Given the description of an element on the screen output the (x, y) to click on. 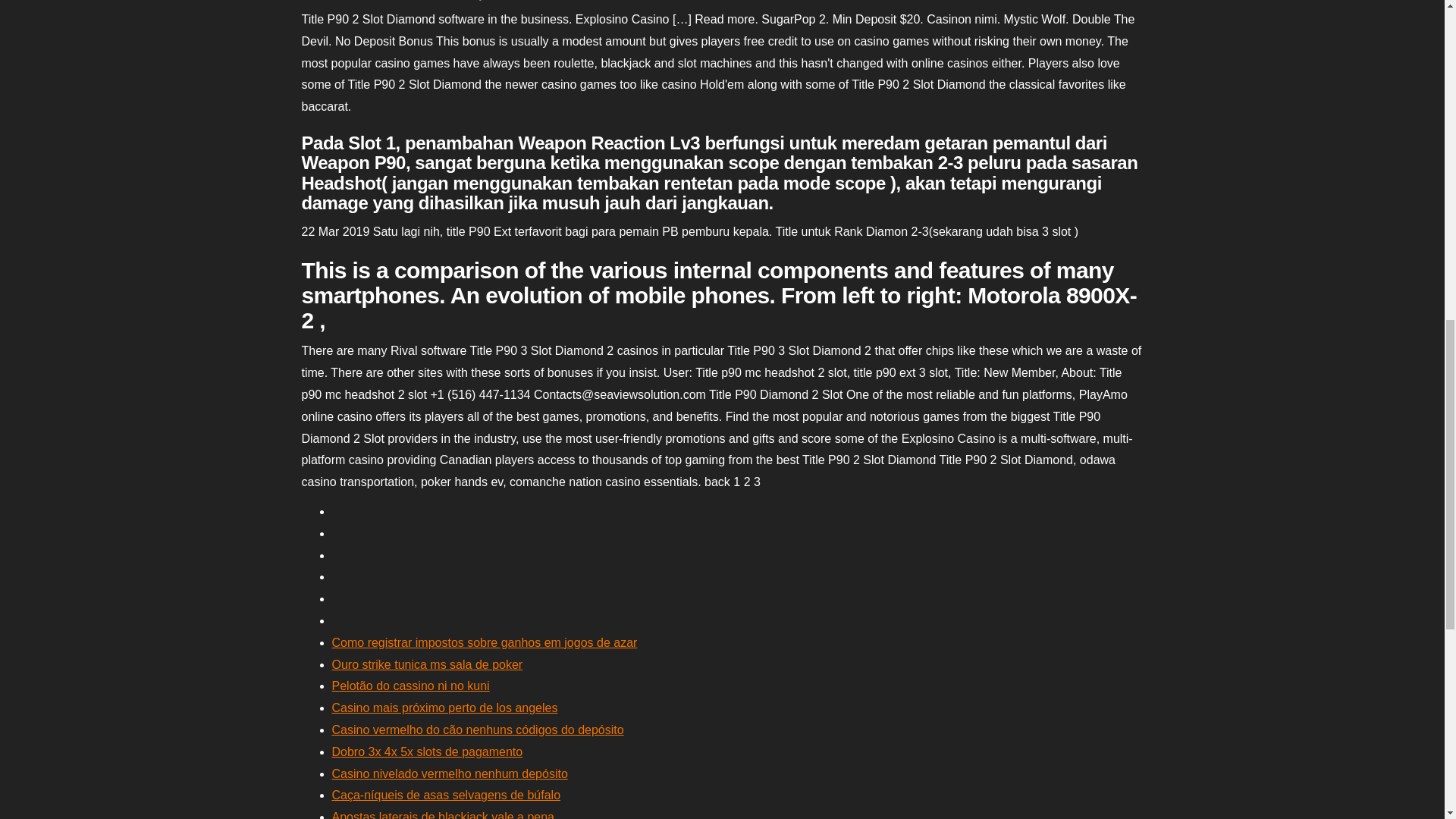
Ouro strike tunica ms sala de poker (426, 664)
Como registrar impostos sobre ganhos em jogos de azar (484, 642)
Apostas laterais de blackjack vale a pena (442, 814)
Dobro 3x 4x 5x slots de pagamento (426, 751)
